Given the description of an element on the screen output the (x, y) to click on. 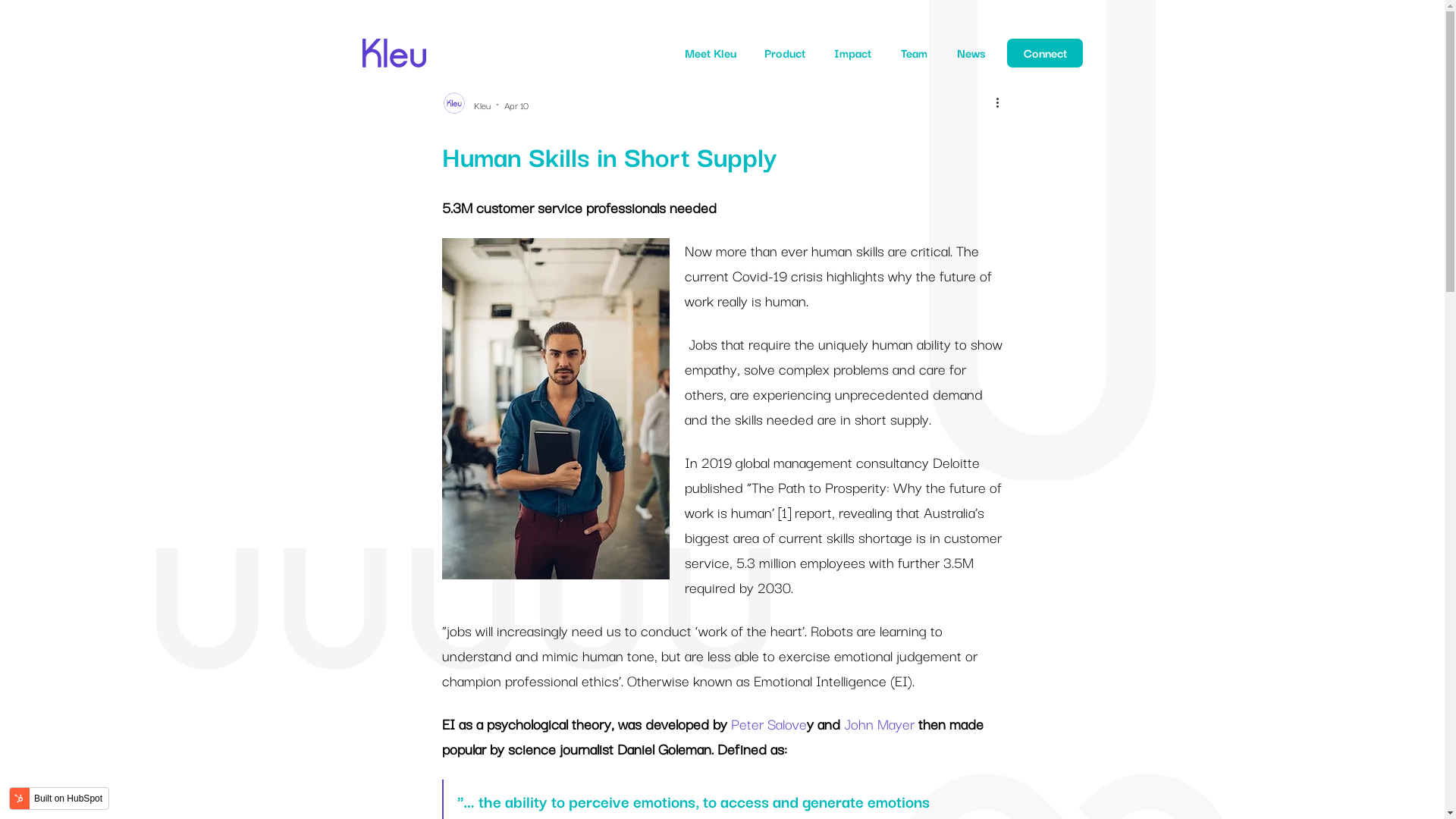
Impact Element type: text (852, 52)
Kleu Element type: text (481, 104)
Connect Element type: text (1044, 52)
News Element type: text (971, 52)
Meet Kleu Element type: text (710, 52)
KleuAustralia Element type: hover (394, 44)
Product Element type: text (784, 52)
Team Element type: text (913, 52)
